Given the description of an element on the screen output the (x, y) to click on. 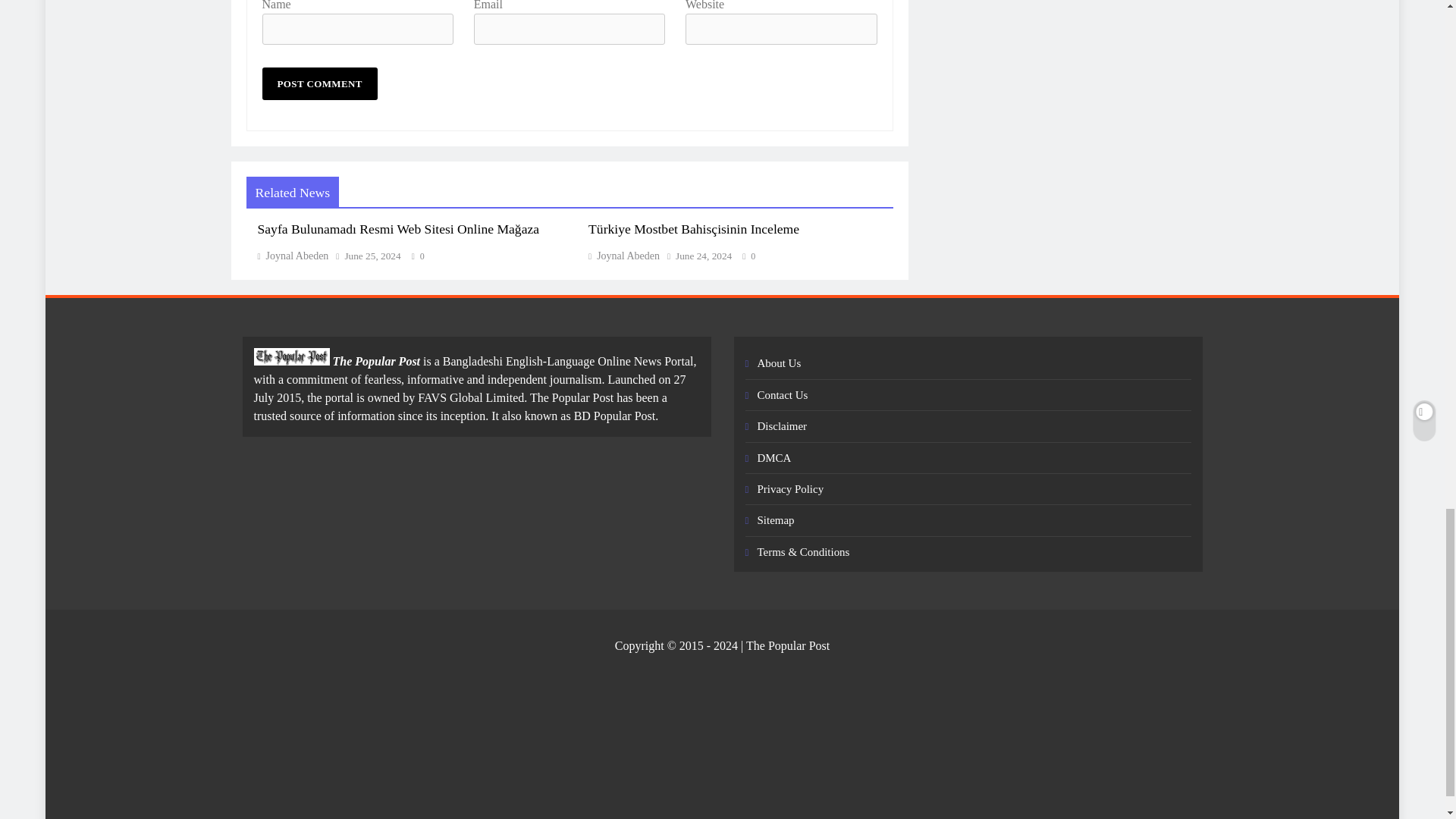
Joynal Abeden (293, 255)
Joynal Abeden (623, 255)
June 25, 2024 (371, 255)
Post Comment (319, 83)
June 24, 2024 (703, 255)
Post Comment (319, 83)
